Given the description of an element on the screen output the (x, y) to click on. 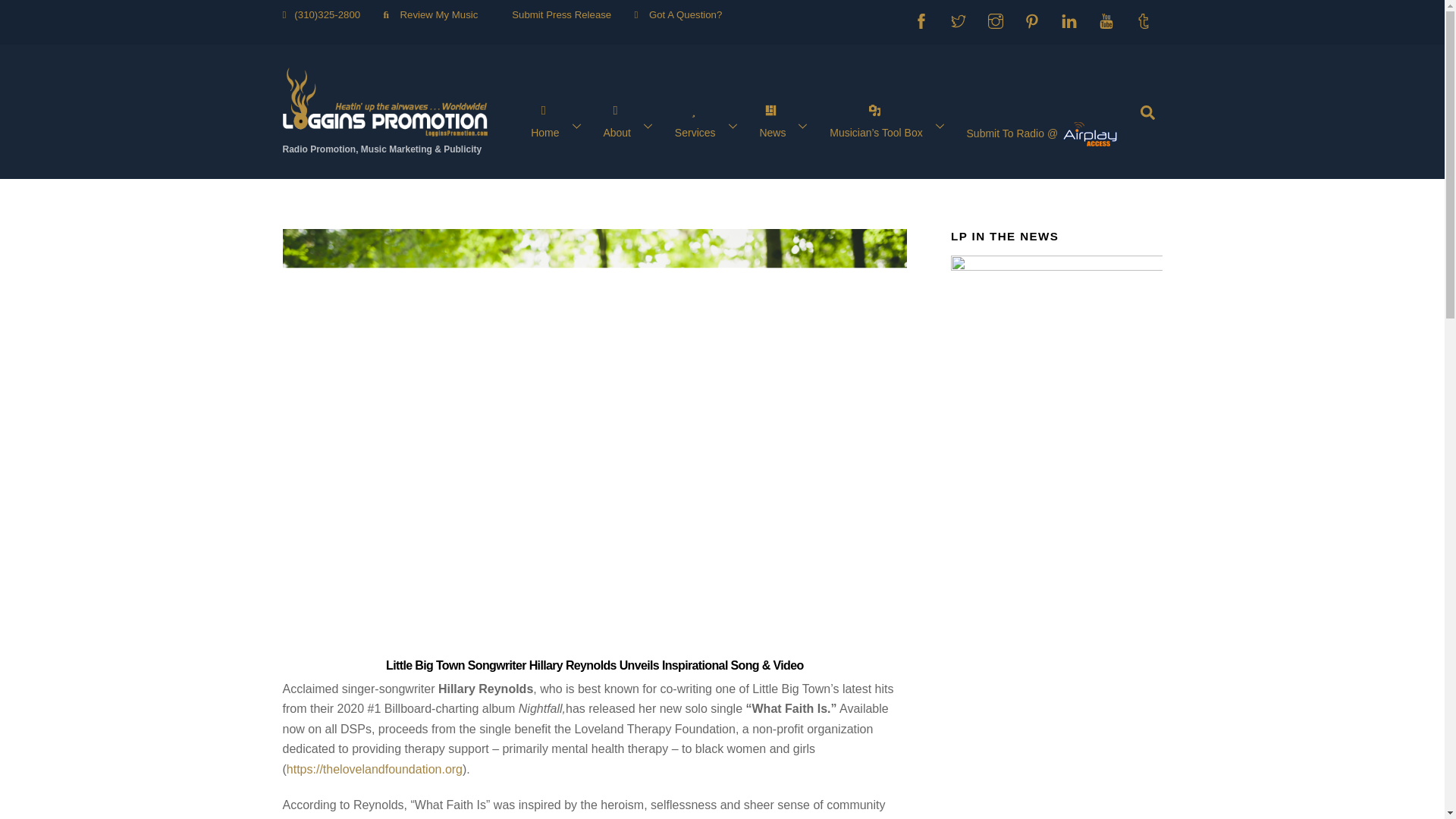
    Review My Music (433, 14)
    Submit Press Release (555, 14)
News (785, 125)
Loggins Promotion, LLC (384, 128)
About (630, 125)
    Got A Question? (679, 14)
Services (708, 125)
Home (559, 125)
Search (1146, 111)
